Given the description of an element on the screen output the (x, y) to click on. 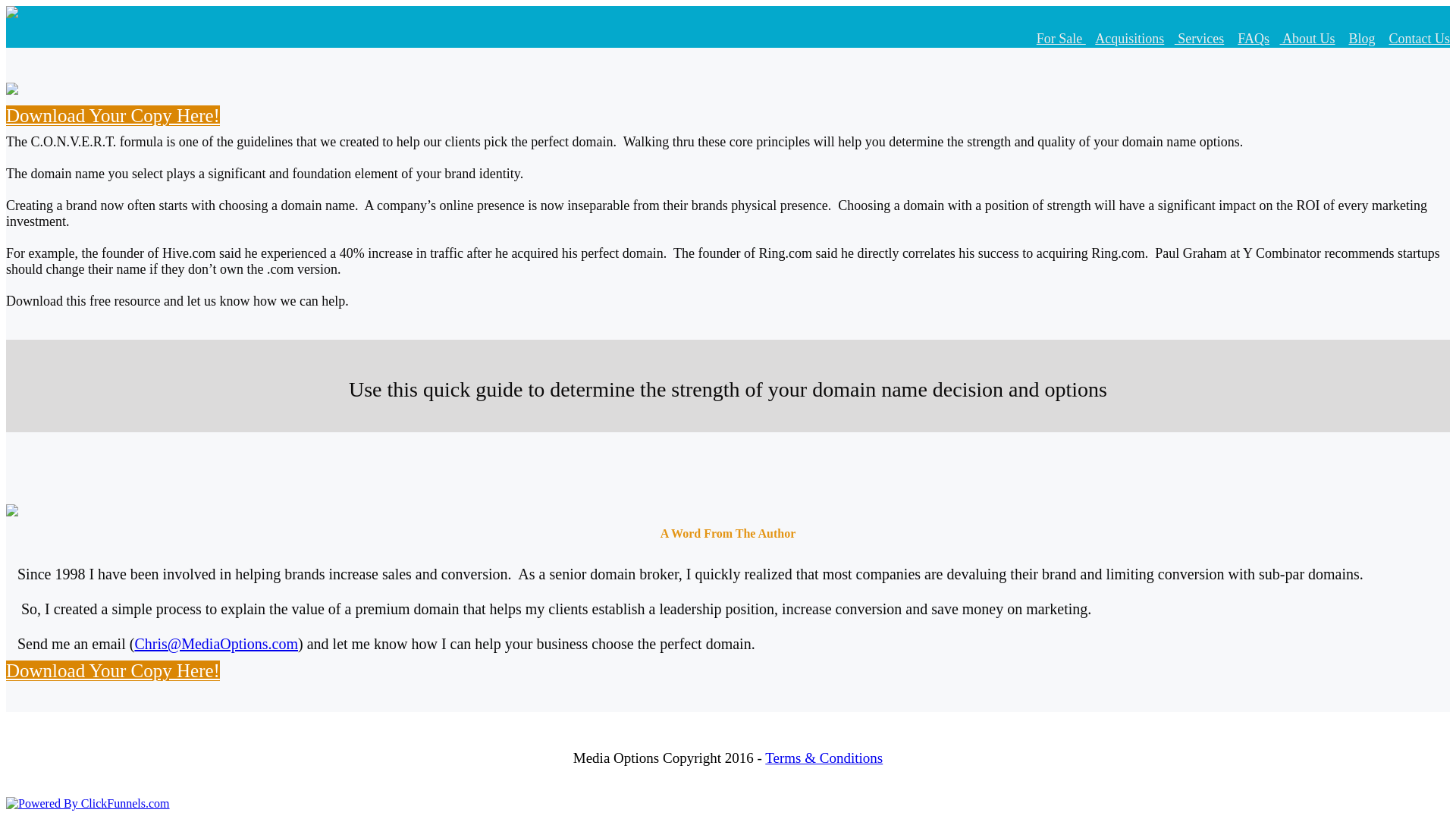
Services (1199, 38)
FAQs (1253, 38)
About Us (1307, 38)
Acquisitions (1128, 38)
Blog (1361, 38)
Download Your Copy Here! (112, 115)
Download Your Copy Here! (112, 670)
For Sale (1061, 38)
